Given the description of an element on the screen output the (x, y) to click on. 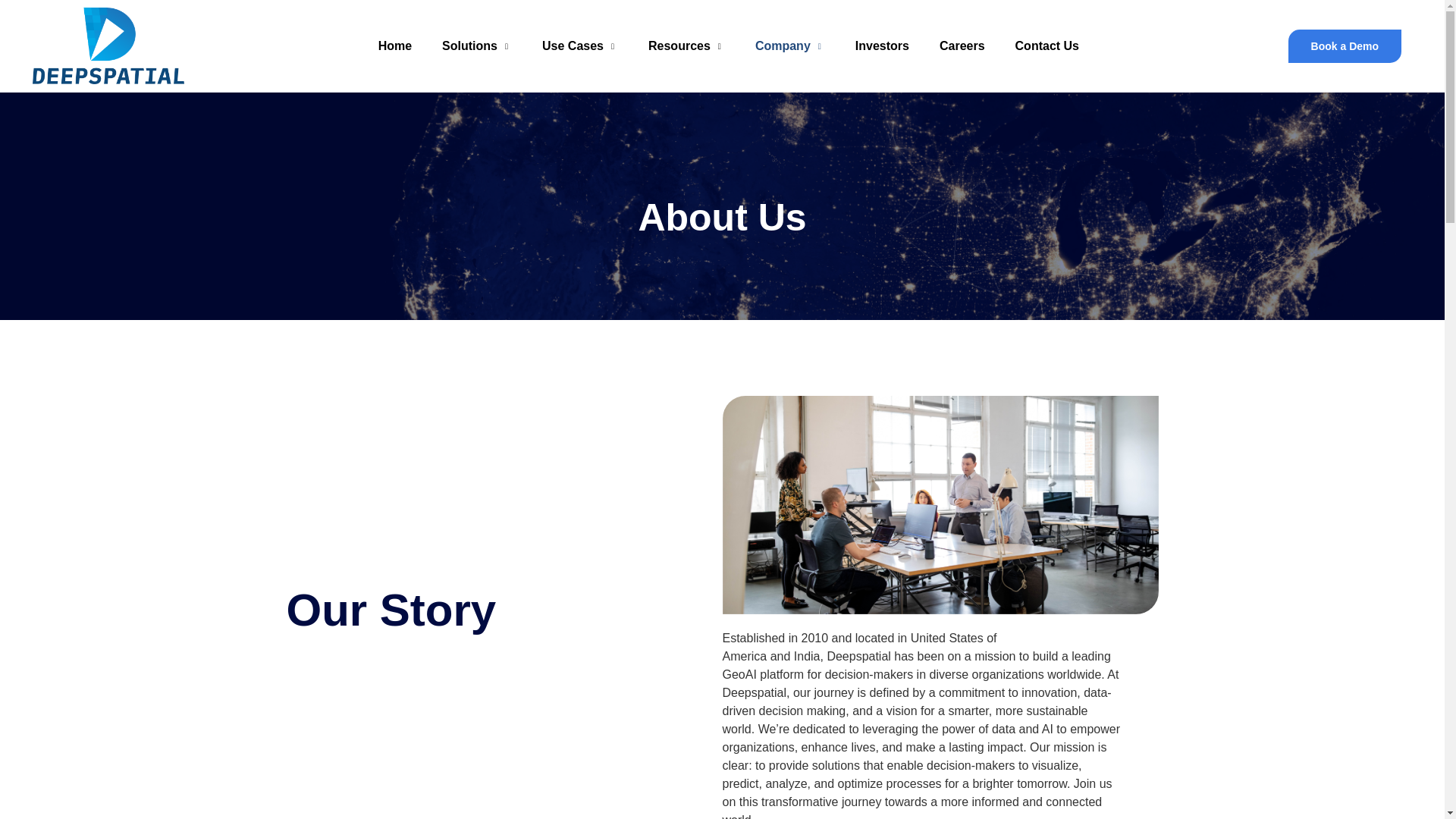
Investors (882, 46)
Company (789, 46)
Contact Us (1047, 46)
Solutions (476, 46)
Book a Demo (1344, 46)
Careers (962, 46)
Resources (686, 46)
Home (394, 46)
Use Cases (580, 46)
